Given the description of an element on the screen output the (x, y) to click on. 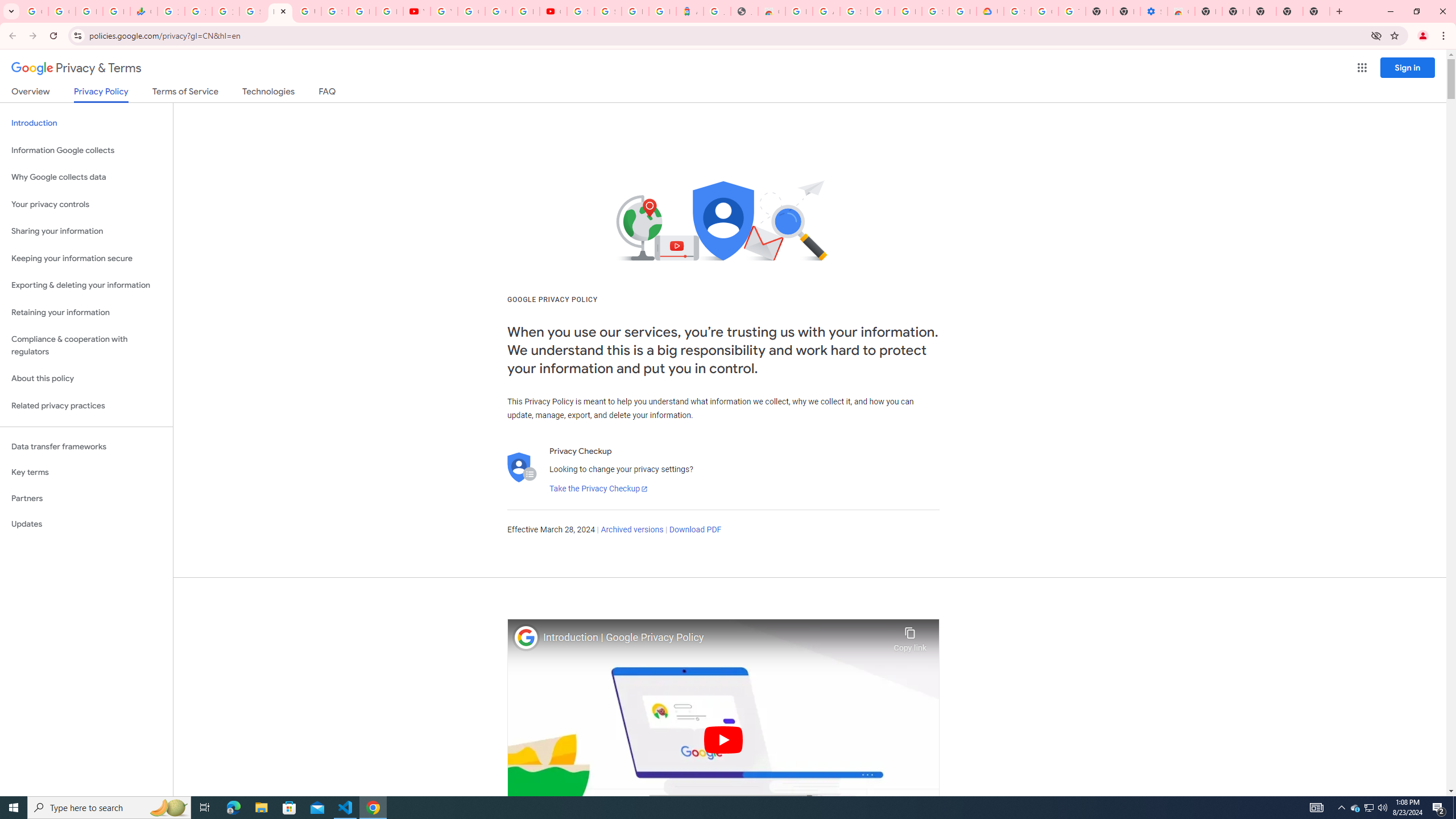
Play (723, 739)
Photo image of Google (526, 636)
YouTube (416, 11)
New Tab (1316, 11)
Sign in - Google Accounts (607, 11)
Content Creator Programs & Opportunities - YouTube Creators (553, 11)
